Given the description of an element on the screen output the (x, y) to click on. 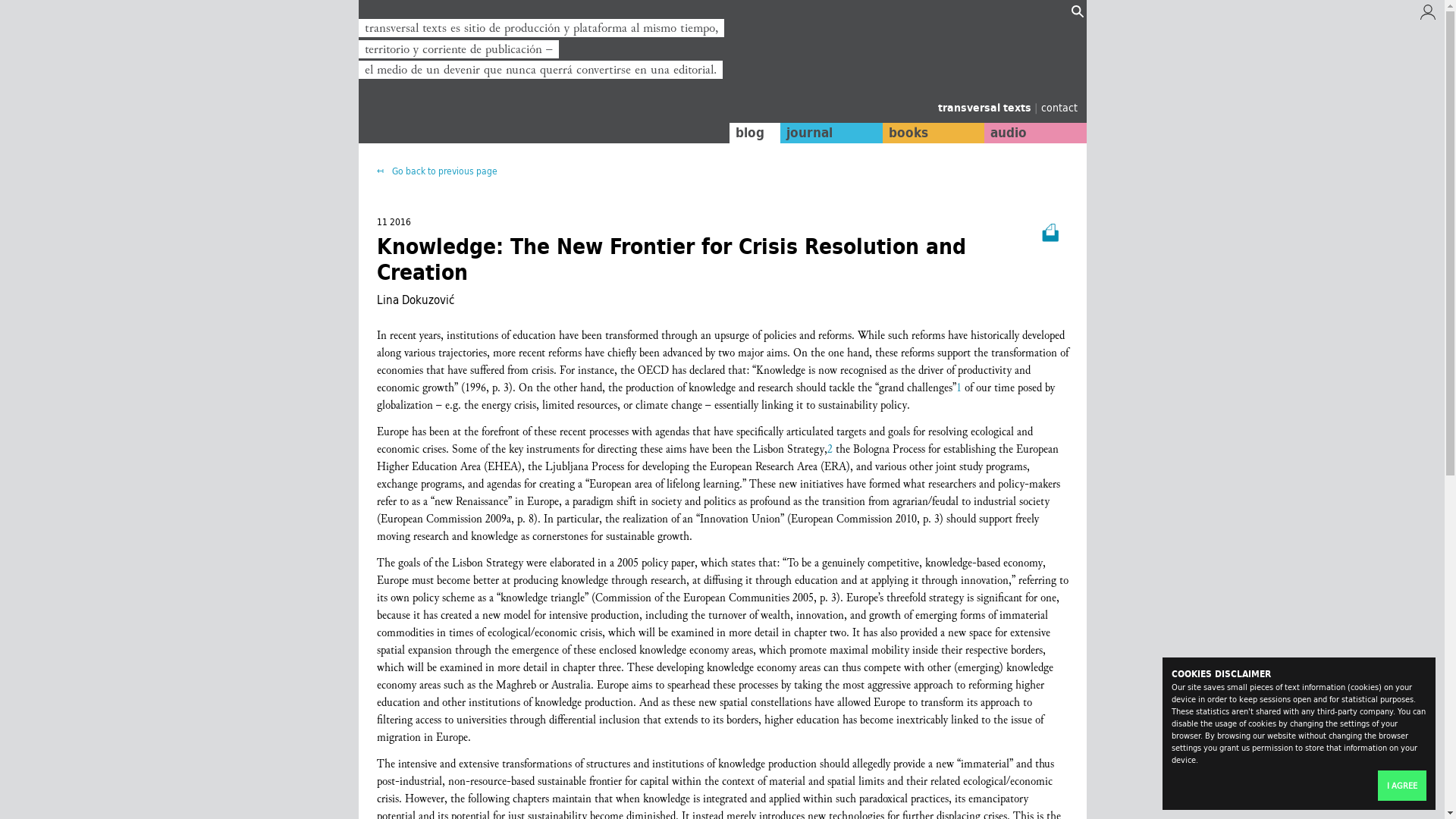
contact (1059, 107)
books (933, 132)
transversal texts (985, 107)
I AGREE (1401, 785)
Go back to previous page (435, 170)
blog (754, 132)
audio (1035, 132)
journal (831, 132)
